Given the description of an element on the screen output the (x, y) to click on. 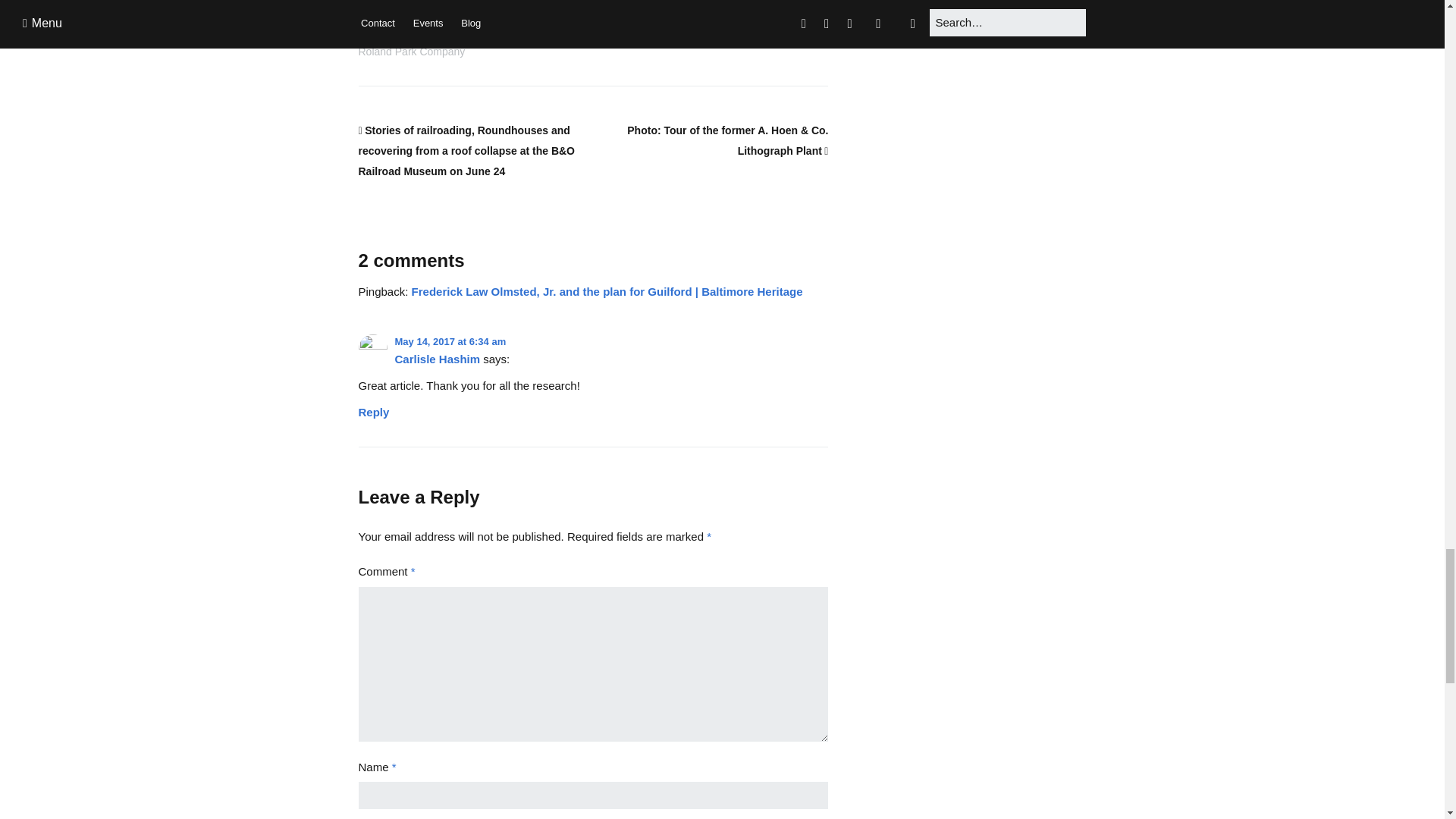
History (384, 9)
Frederick Law Olmsted Jr. (524, 34)
Edward H. Bouton (411, 34)
